Given the description of an element on the screen output the (x, y) to click on. 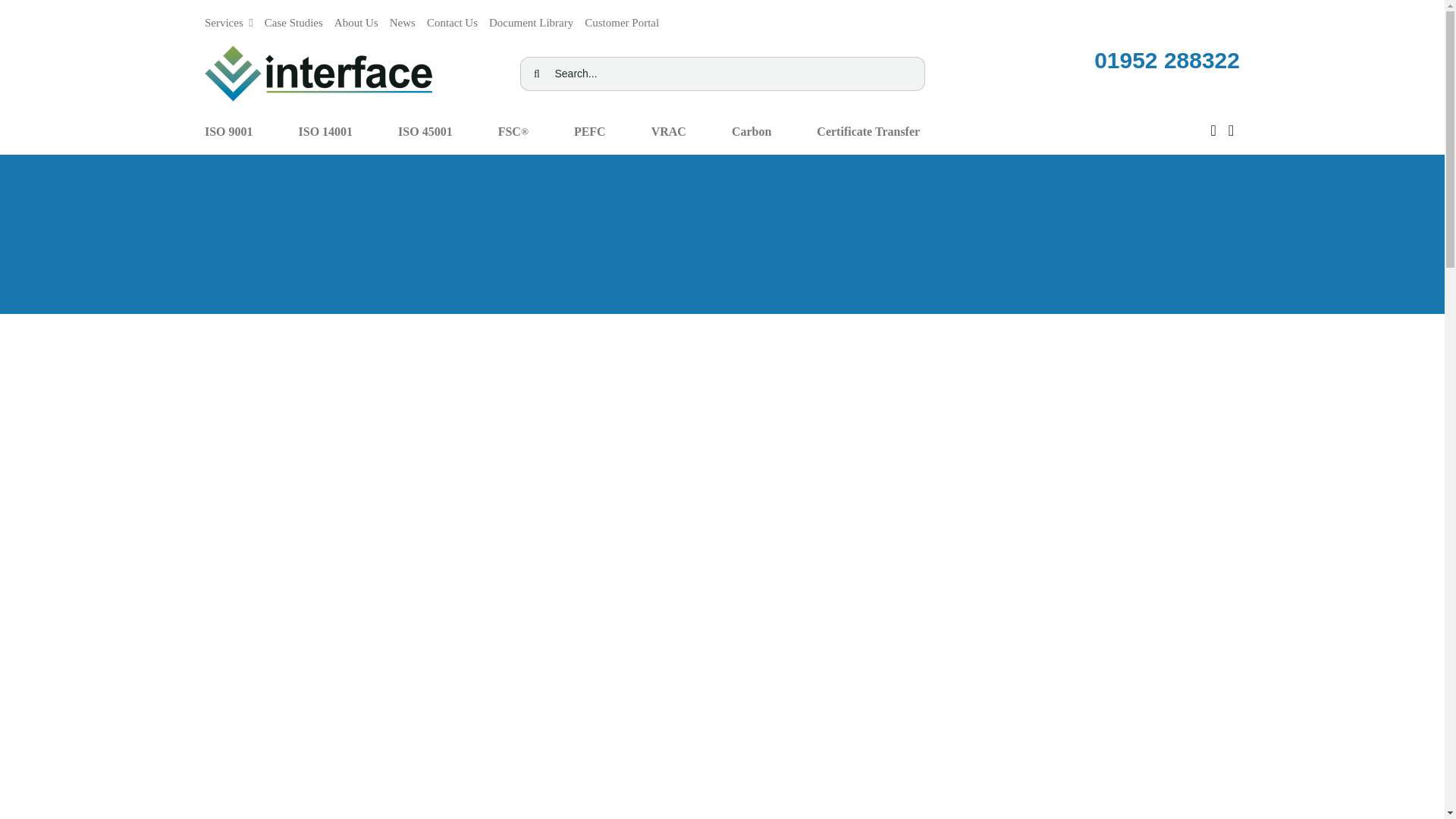
News (402, 18)
Case Studies (293, 18)
Document Library (531, 18)
Contact Us (451, 18)
About Us (356, 18)
Services (229, 18)
Customer Portal (622, 18)
